Given the description of an element on the screen output the (x, y) to click on. 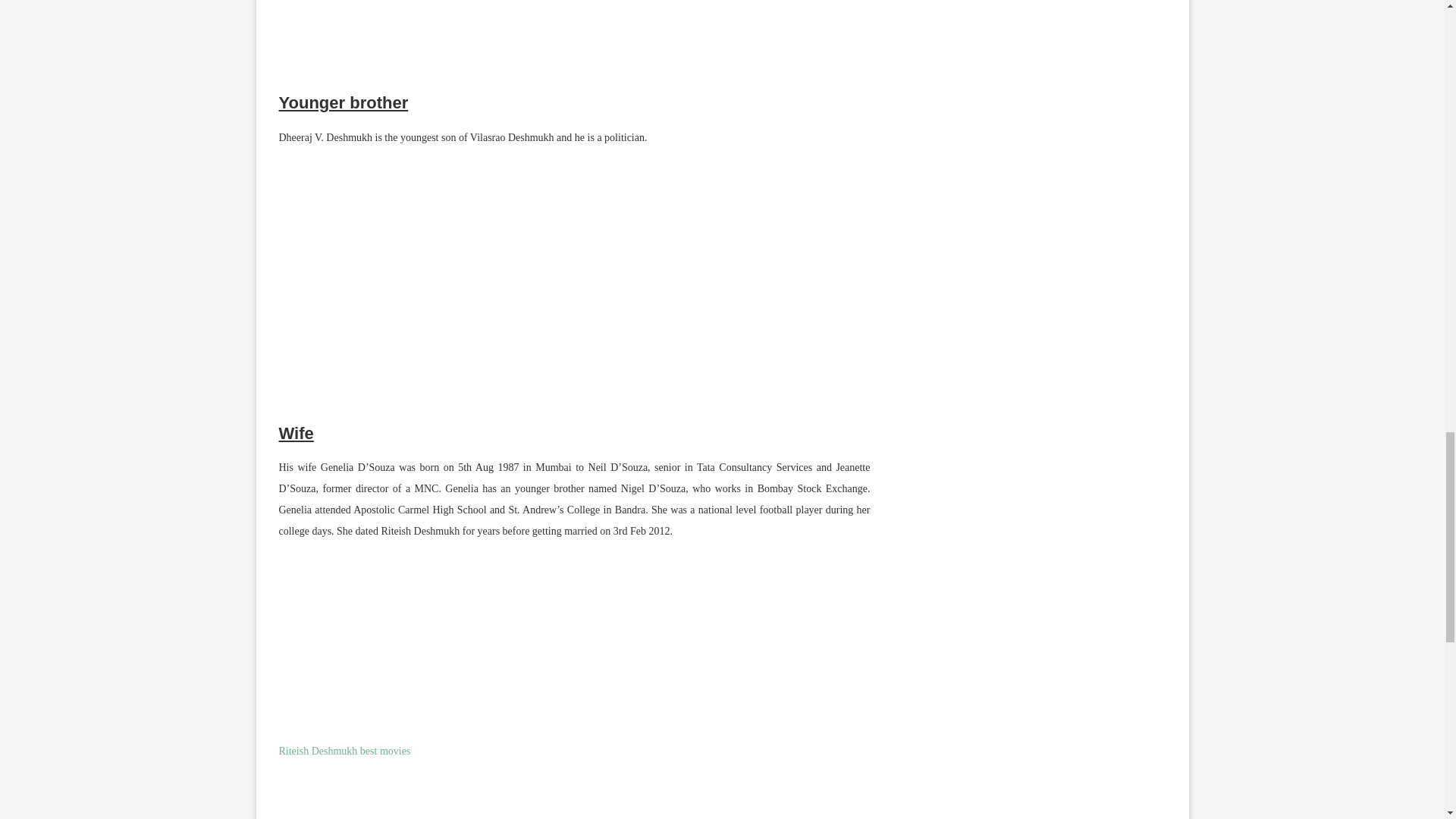
Riteish Deshmukh best movies (344, 750)
